Given the description of an element on the screen output the (x, y) to click on. 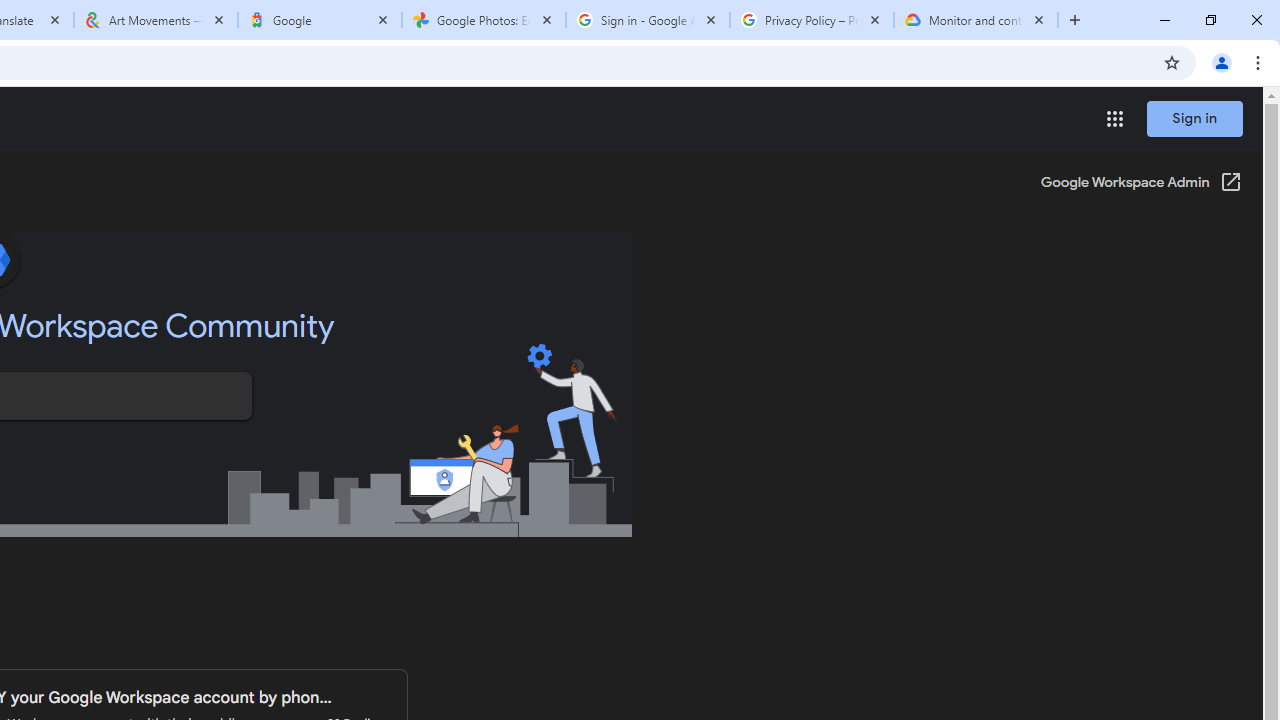
Restore (1210, 20)
Google (319, 20)
You (1221, 62)
New Tab (1075, 20)
Chrome (1260, 62)
Google Workspace Admin (Open in a new window) (1140, 183)
Close (1039, 19)
Sign in (1194, 118)
Minimize (1165, 20)
Google apps (1114, 118)
